Given the description of an element on the screen output the (x, y) to click on. 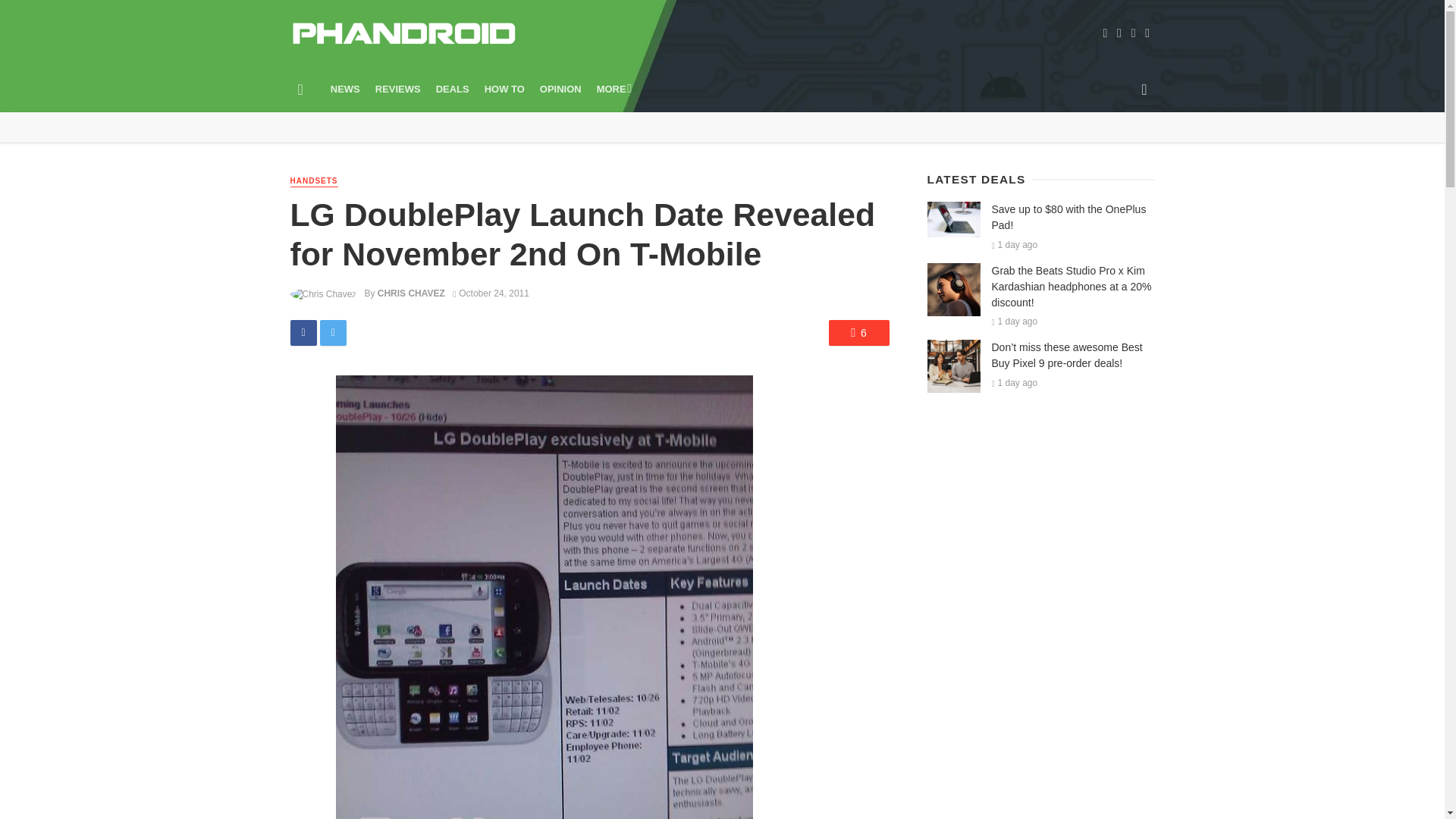
HANDSETS (313, 181)
OPINION (560, 89)
REVIEWS (398, 89)
October 24, 2011 at 11:00 pm (490, 293)
6 (858, 332)
Share on Twitter (333, 332)
Posts by Chris Chavez (411, 293)
NEWS (345, 89)
Share on Facebook (302, 332)
